Given the description of an element on the screen output the (x, y) to click on. 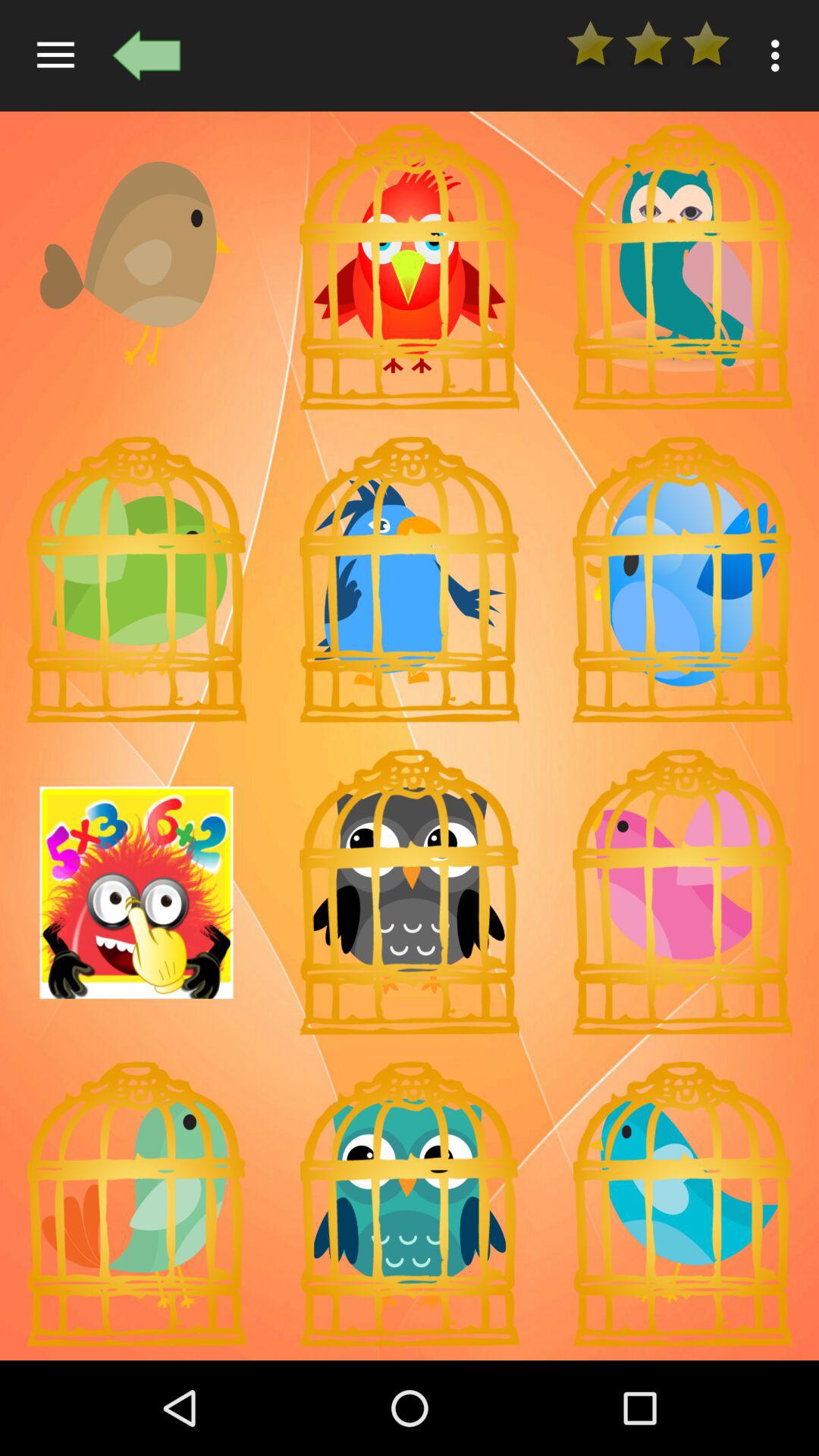
select bird (682, 267)
